Given the description of an element on the screen output the (x, y) to click on. 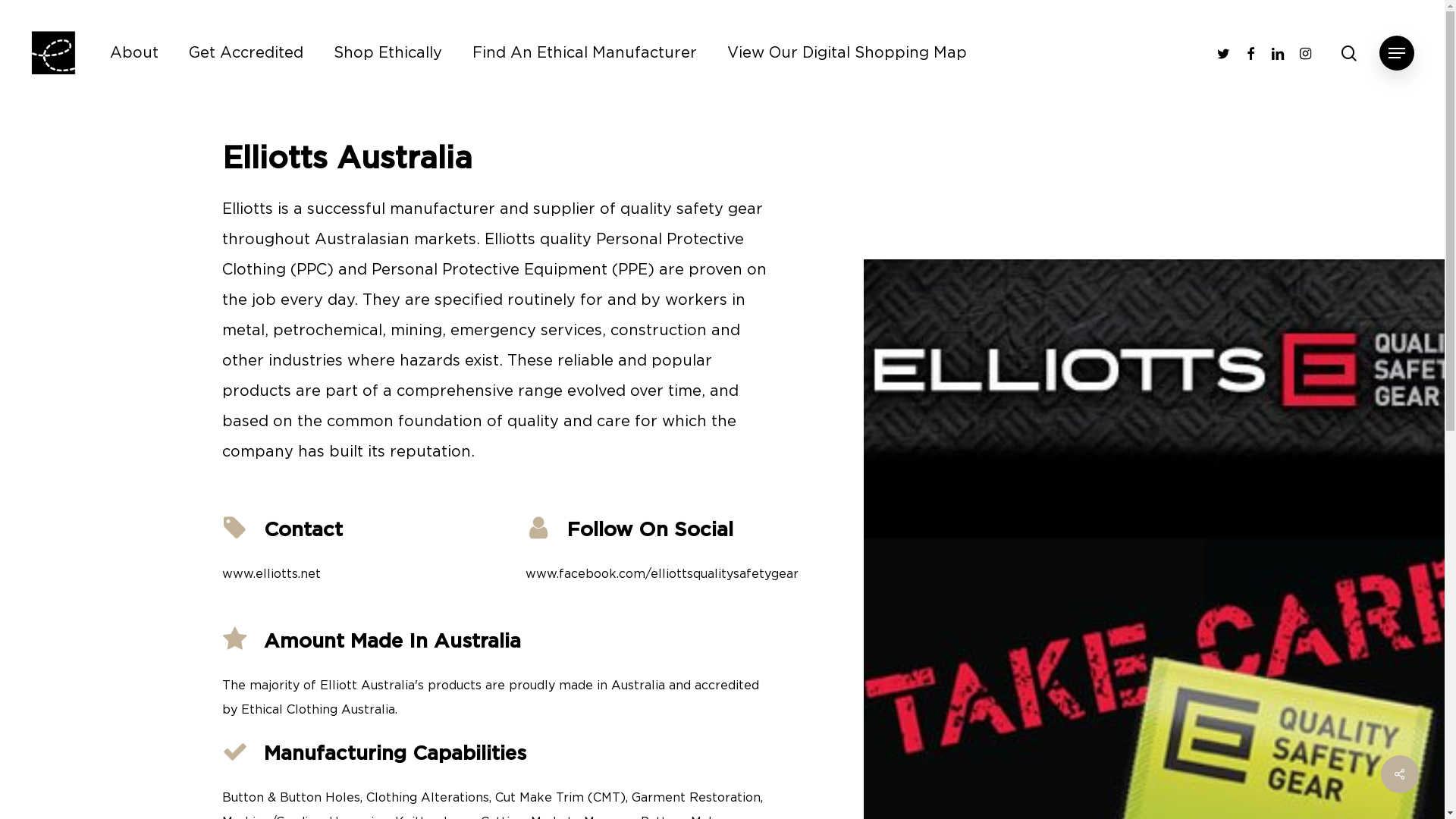
twitter Element type: text (1222, 53)
Shop Ethically Element type: text (387, 52)
search Element type: text (1348, 53)
linkedin Element type: text (1277, 53)
instagram Element type: text (1304, 53)
www.facebook.com/elliottsqualitysafetygear Element type: text (661, 573)
Menu Element type: text (1396, 53)
Get Accredited Element type: text (245, 52)
facebook Element type: text (1250, 53)
About Element type: text (133, 52)
View Our Digital Shopping Map Element type: text (846, 52)
www.elliotts.net Element type: text (270, 573)
Find An Ethical Manufacturer Element type: text (584, 52)
